Given the description of an element on the screen output the (x, y) to click on. 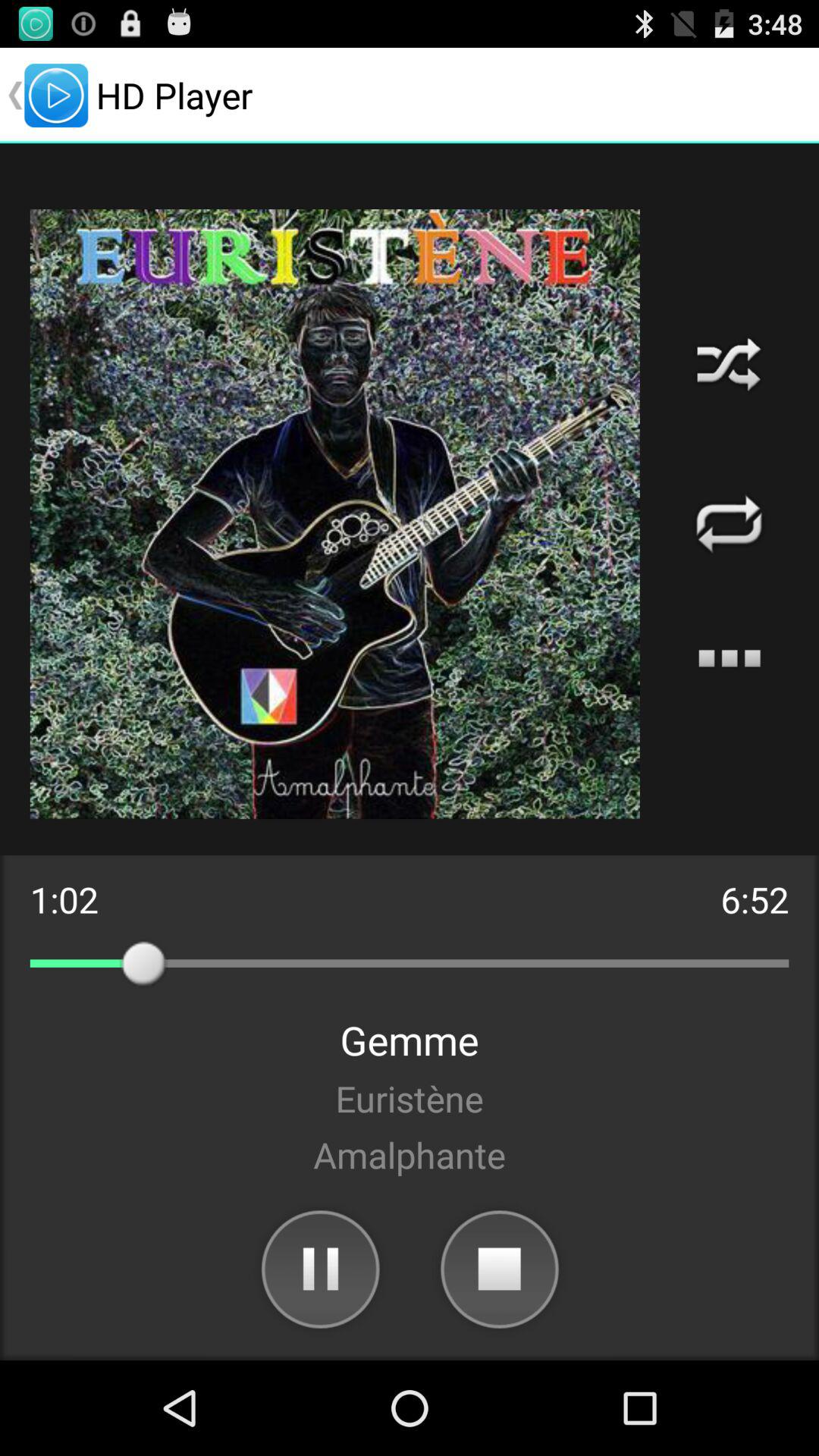
turn on gemme (409, 1039)
